Given the description of an element on the screen output the (x, y) to click on. 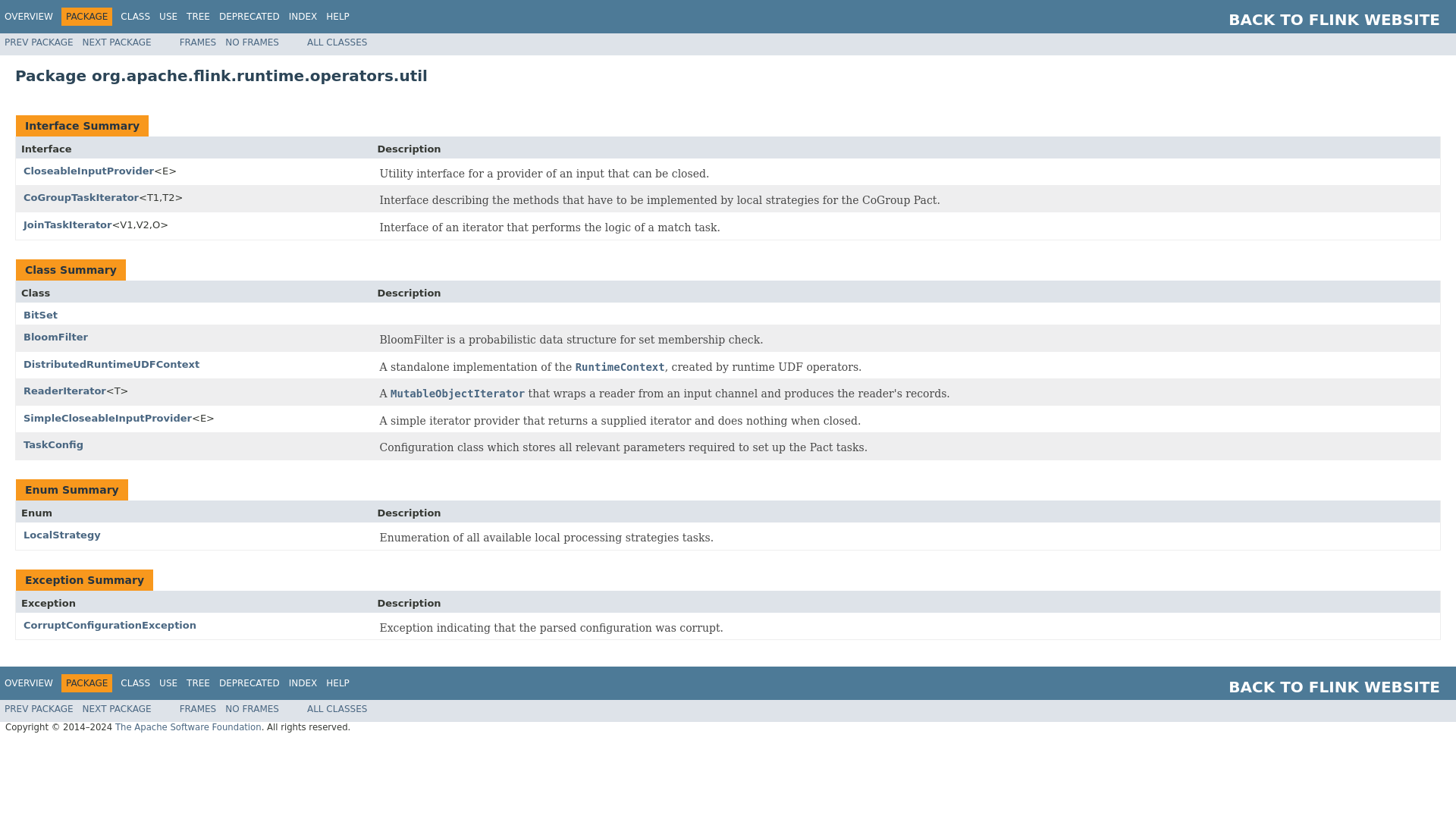
NEXT PACKAGE (116, 41)
USE (167, 16)
Package (727, 75)
LocalStrategy (61, 534)
ALL CLASSES (336, 41)
enum in org.apache.flink.runtime.operators.util (61, 534)
TREE (197, 16)
class in org.apache.flink.runtime.operators.util (55, 337)
interface in org.apache.flink.runtime.operators.util (67, 224)
USE (167, 683)
SimpleCloseableInputProvider (107, 418)
BACK TO FLINK WEBSITE (1333, 19)
interface in org.apache.flink.util (457, 394)
PREV PACKAGE (39, 41)
OVERVIEW (28, 16)
